Given the description of an element on the screen output the (x, y) to click on. 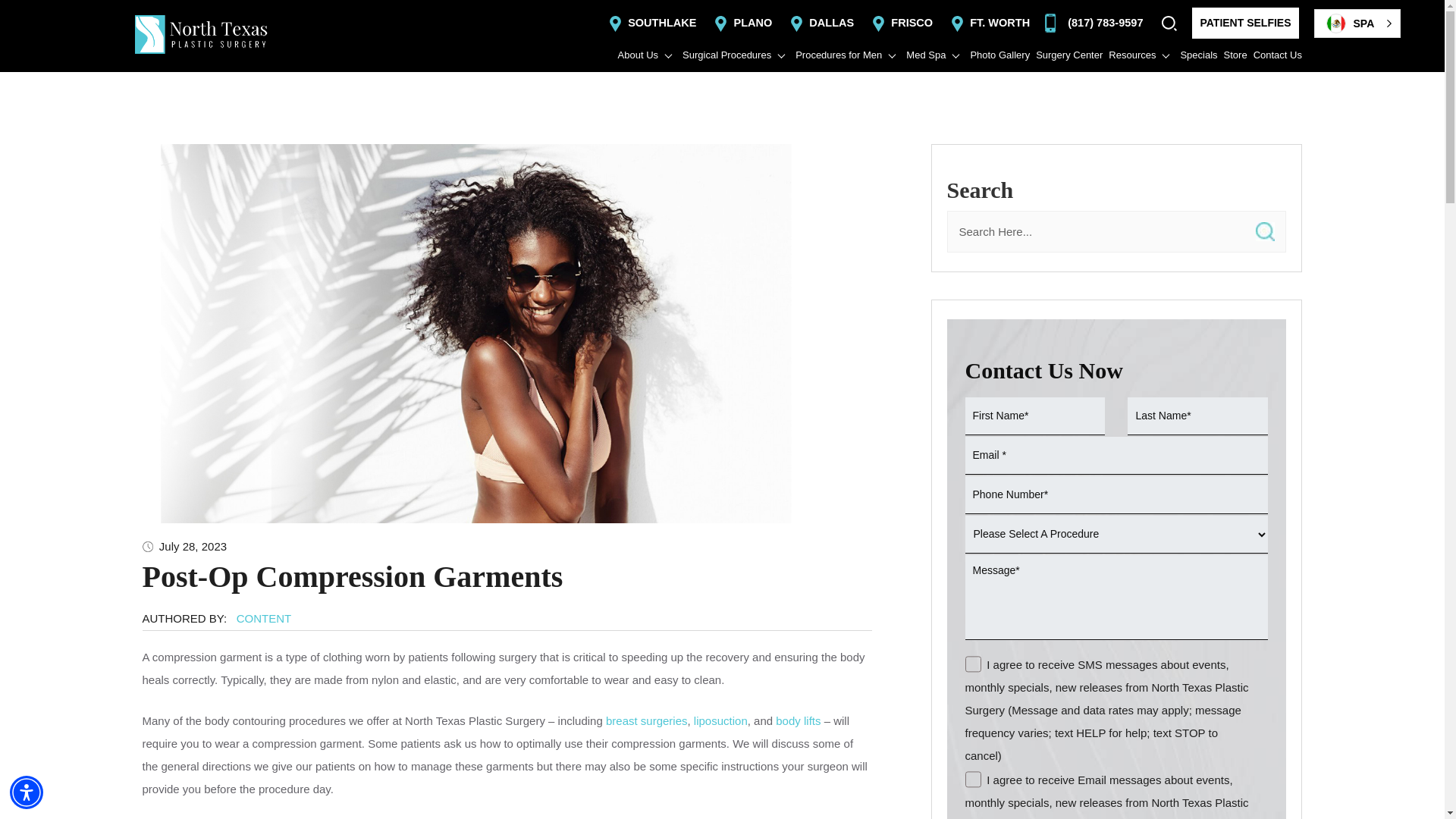
FT. WORTH (988, 22)
SOUTHLAKE (650, 22)
DALLAS (820, 22)
PATIENT SELFIES (1245, 22)
PLANO (741, 22)
FRISCO (901, 22)
Accessibility Menu (26, 792)
